Given the description of an element on the screen output the (x, y) to click on. 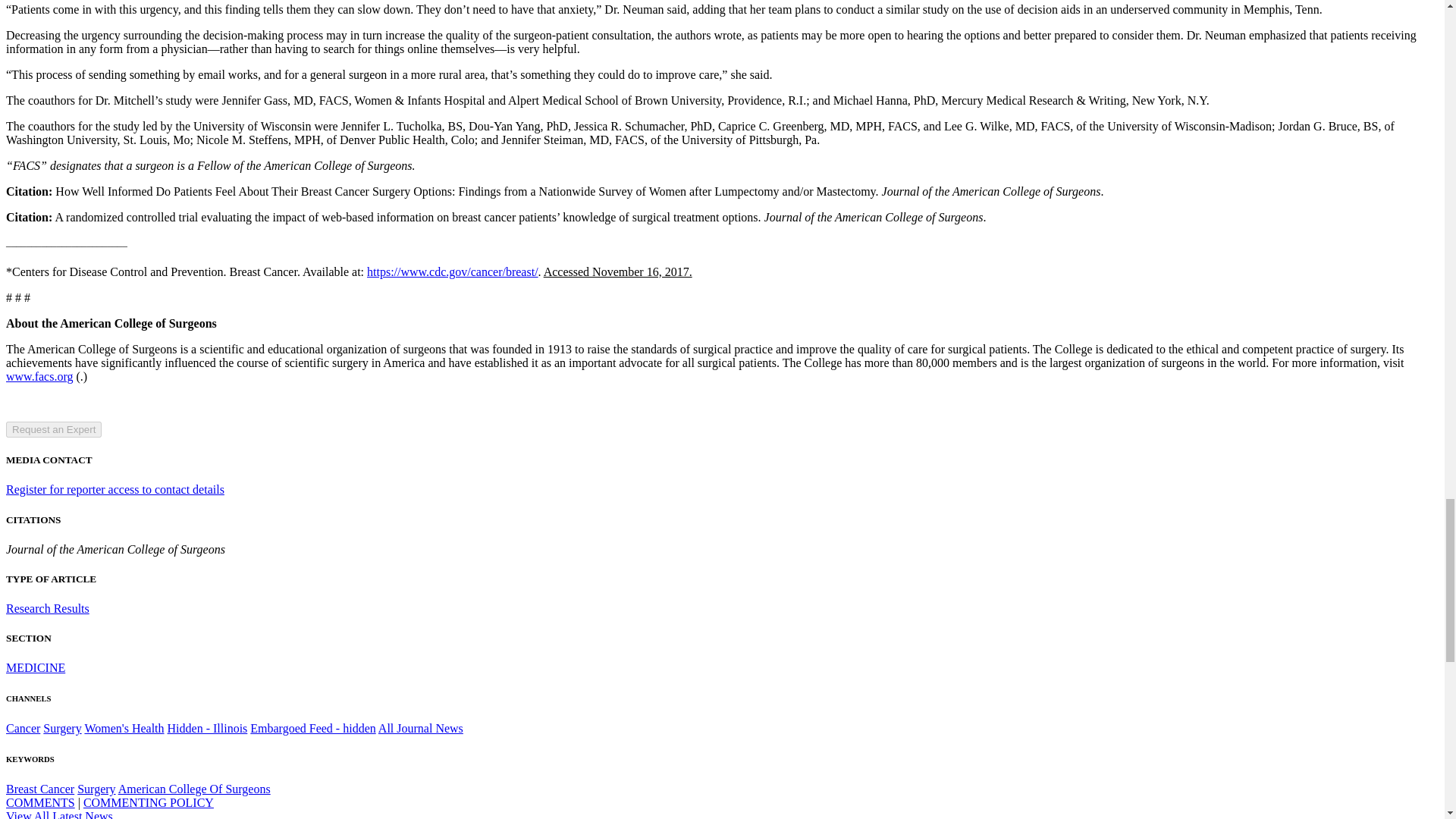
Show all articles in this channel (35, 667)
Show all articles in this channel (62, 727)
Show all articles in this channel (22, 727)
Show all articles in this channel (123, 727)
Research Results (46, 608)
